Given the description of an element on the screen output the (x, y) to click on. 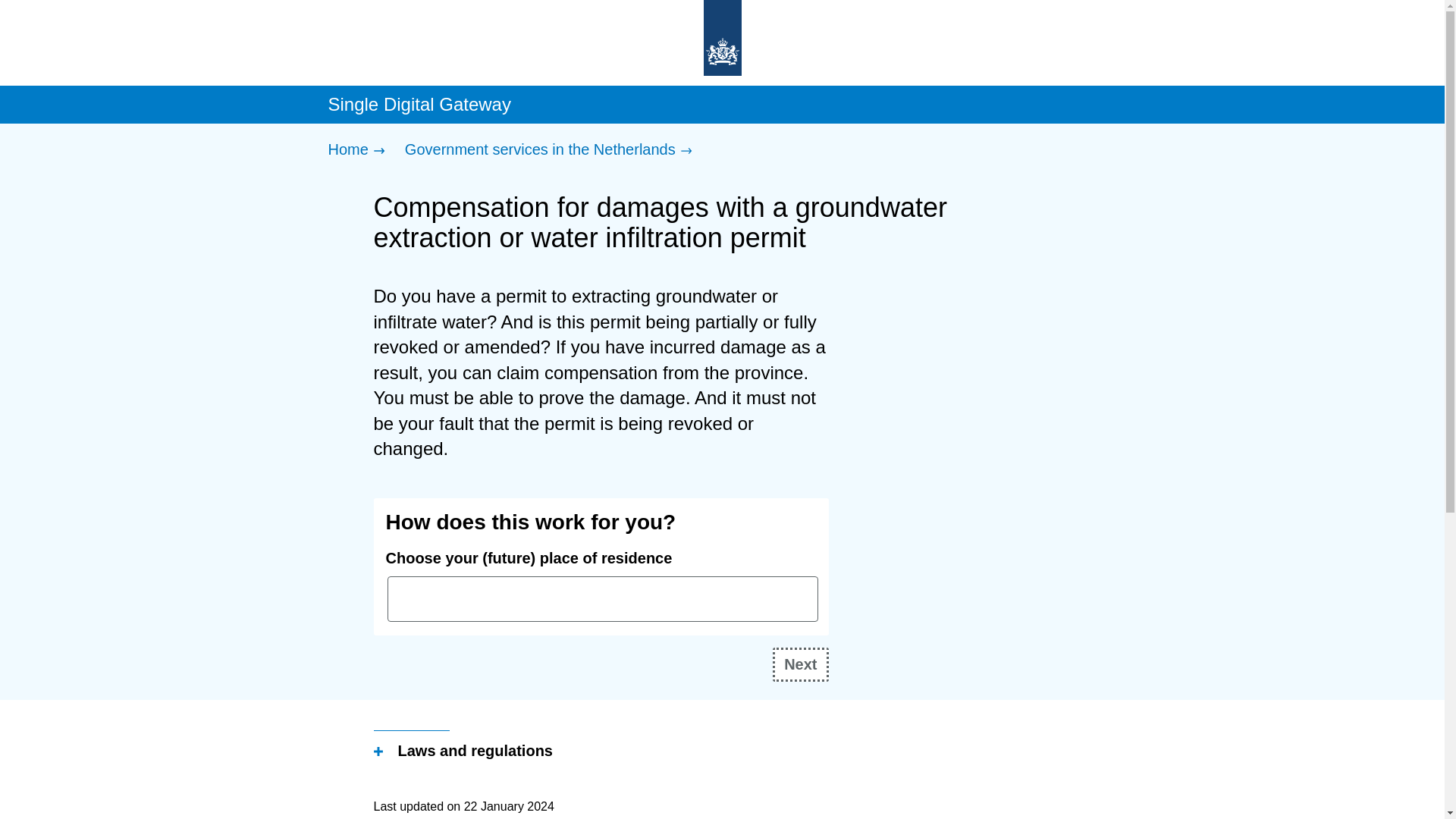
To the homepage of sdg.government.nl (722, 38)
Home (359, 150)
Laws and regulations (461, 752)
Next (800, 664)
Government services in the Netherlands (552, 150)
